Given the description of an element on the screen output the (x, y) to click on. 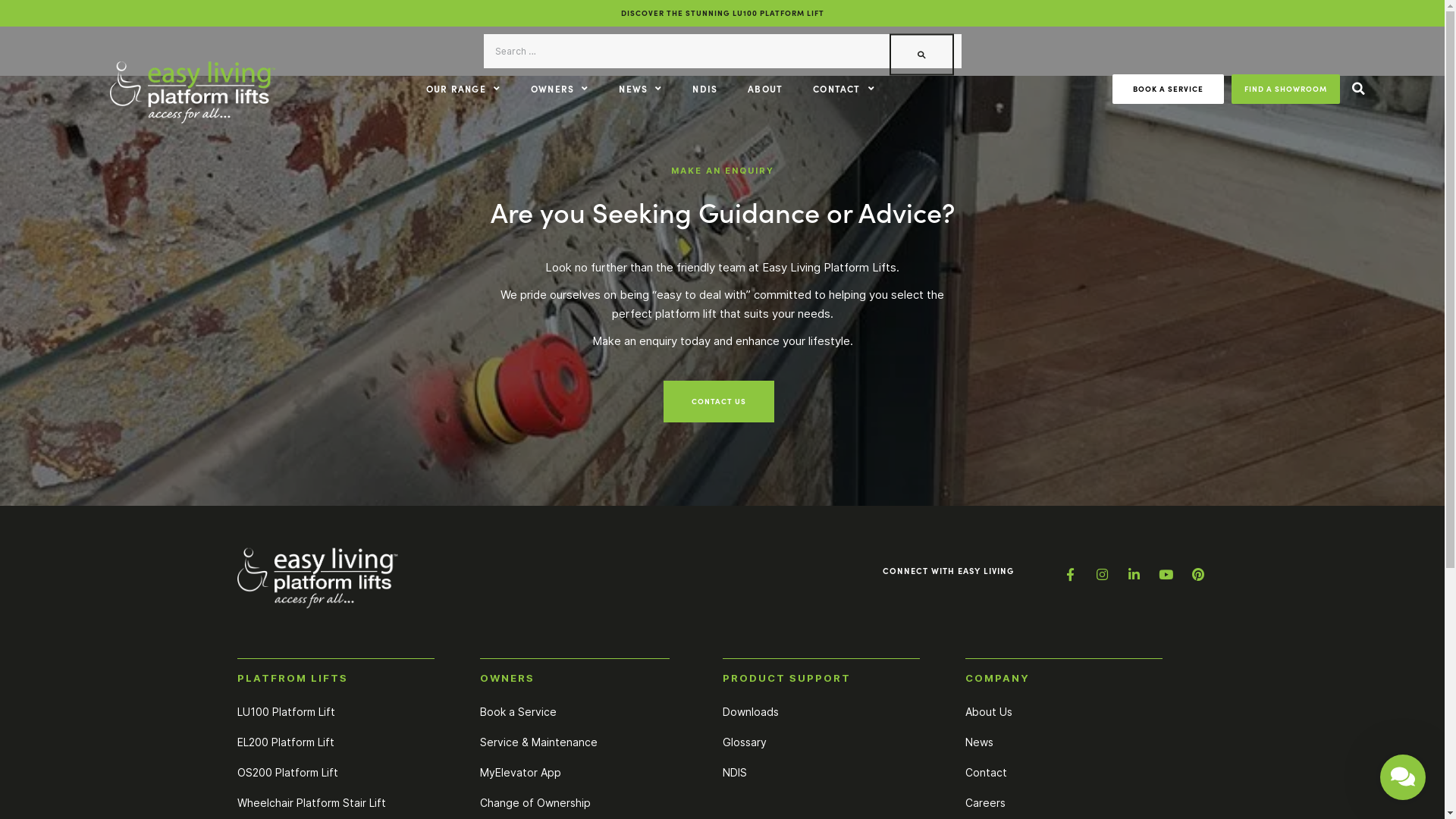
NEWS Element type: text (640, 88)
BOOK A SERVICE Element type: text (1167, 88)
LU100 Platform Lift Element type: text (285, 711)
MyElevator App Element type: text (519, 771)
Search Element type: text (920, 54)
Press enter to search Element type: hover (722, 51)
OUR RANGE Element type: text (463, 88)
Downloads Element type: text (749, 711)
DISCOVER THE STUNNING LU100 PLATFORM LIFT Element type: text (721, 12)
NDIS Element type: text (704, 88)
Book a Service Element type: text (517, 711)
ABOUT Element type: text (765, 88)
Wheelchair Platform Stair Lift Element type: text (310, 802)
News Element type: text (978, 741)
Careers Element type: text (984, 802)
Contact Element type: text (985, 771)
EL200 Platform Lift Element type: text (284, 741)
Change of Ownership Element type: text (534, 802)
OWNERS Element type: text (559, 88)
FIND A SHOWROOM Element type: text (1285, 88)
About Us Element type: text (987, 711)
NDIS Element type: text (733, 771)
CONTACT US Element type: text (717, 401)
Glossary Element type: text (743, 741)
Service & Maintenance Element type: text (537, 741)
OS200 Platform Lift Element type: text (286, 771)
CONTACT Element type: text (843, 88)
